Given the description of an element on the screen output the (x, y) to click on. 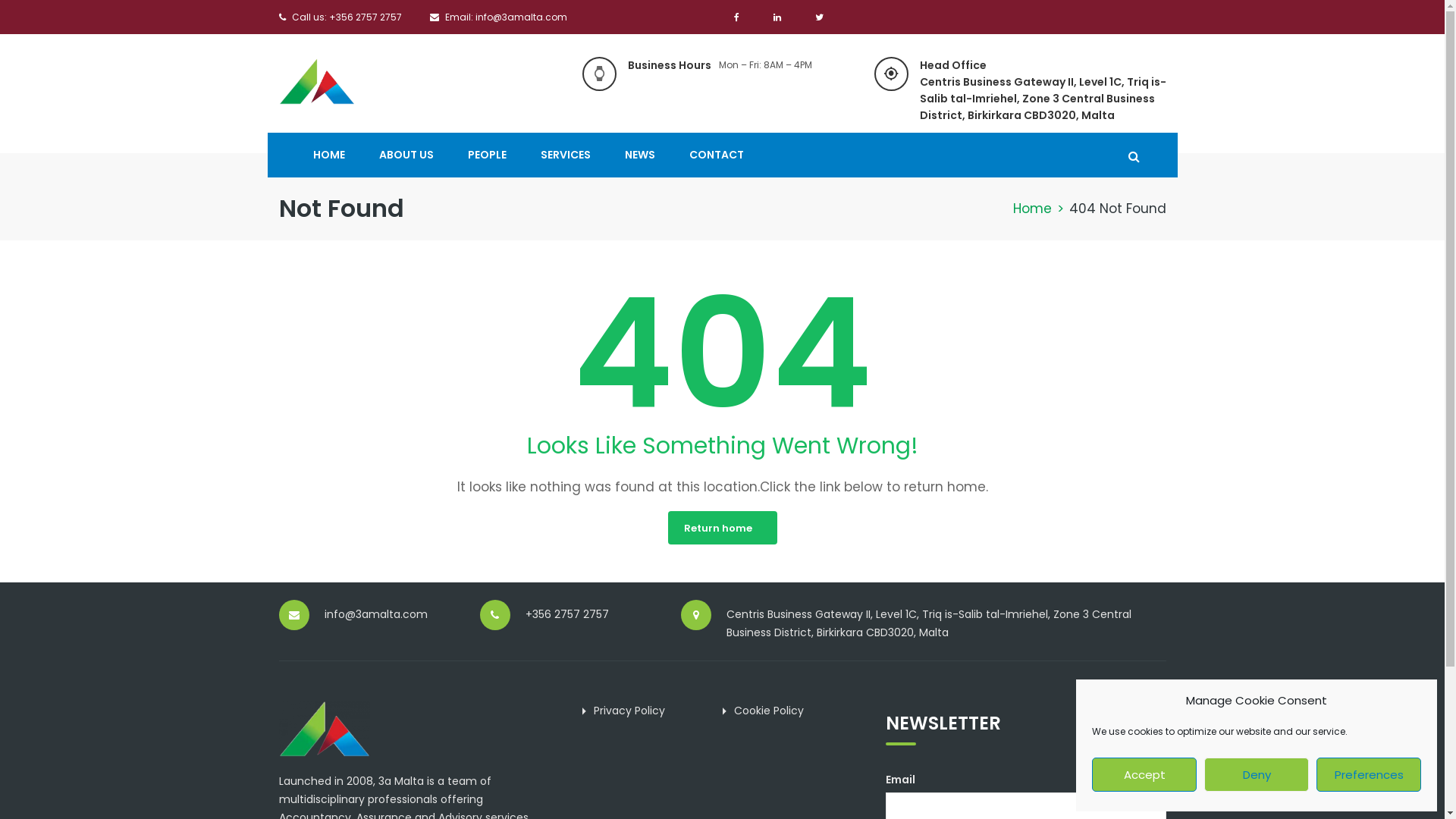
Home Element type: text (1032, 208)
Search Element type: text (1144, 225)
ABOUT US Element type: text (406, 154)
HOME Element type: text (328, 154)
SERVICES Element type: text (564, 154)
Privacy Policy Element type: text (628, 710)
CONTACT Element type: text (708, 154)
PEOPLE Element type: text (485, 154)
Preferences Element type: text (1368, 774)
Accept Element type: text (1144, 774)
Return home Element type: text (721, 527)
Deny Element type: text (1256, 774)
NEWS Element type: text (639, 154)
3a Malta Element type: hover (316, 79)
Cookie Policy Element type: text (768, 710)
